Given the description of an element on the screen output the (x, y) to click on. 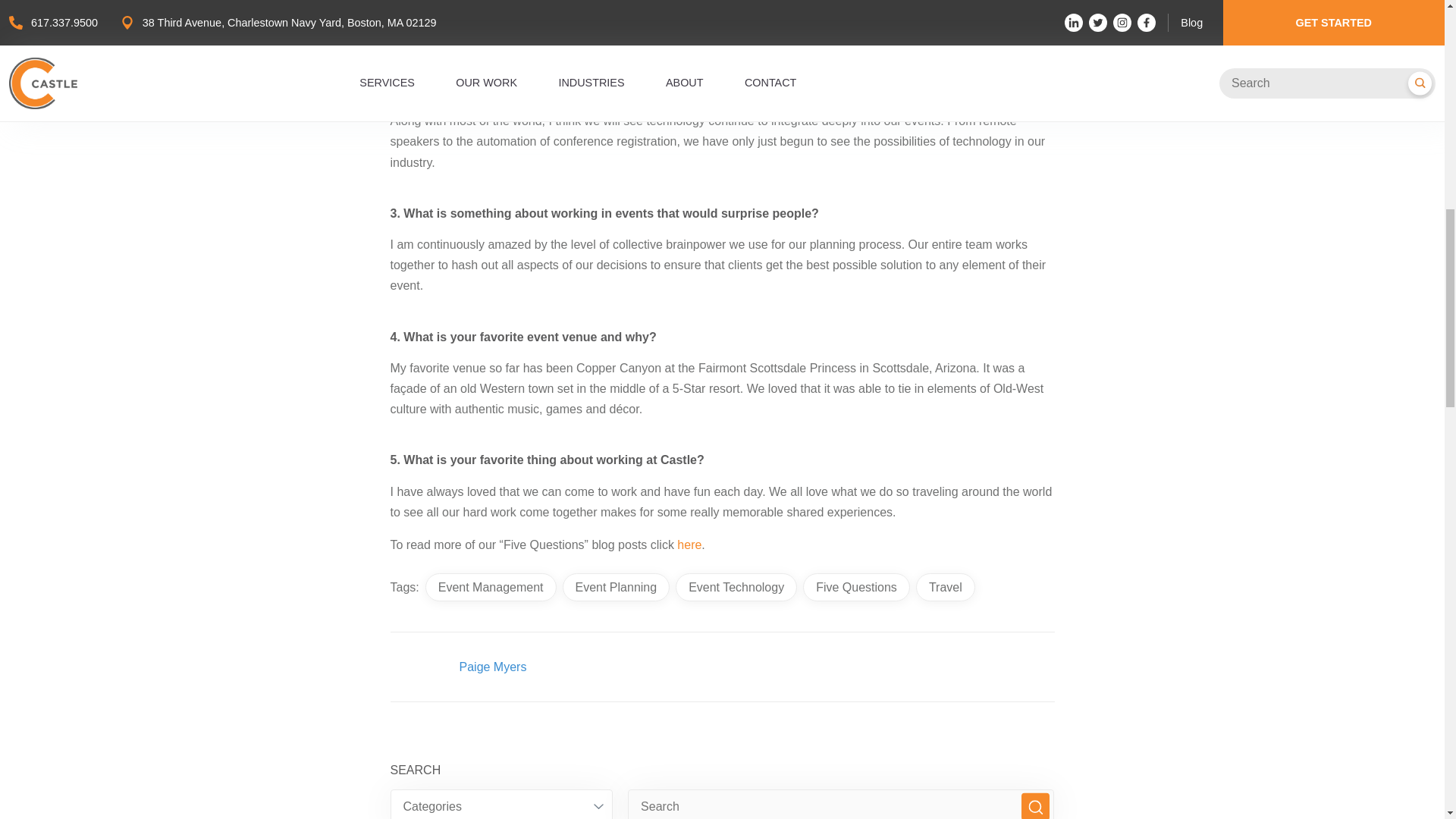
Five Questions Tag (856, 587)
Travel Tag (945, 587)
event planning Tag (615, 587)
Event management Tag (490, 587)
Event Technology Tag (735, 587)
